Given the description of an element on the screen output the (x, y) to click on. 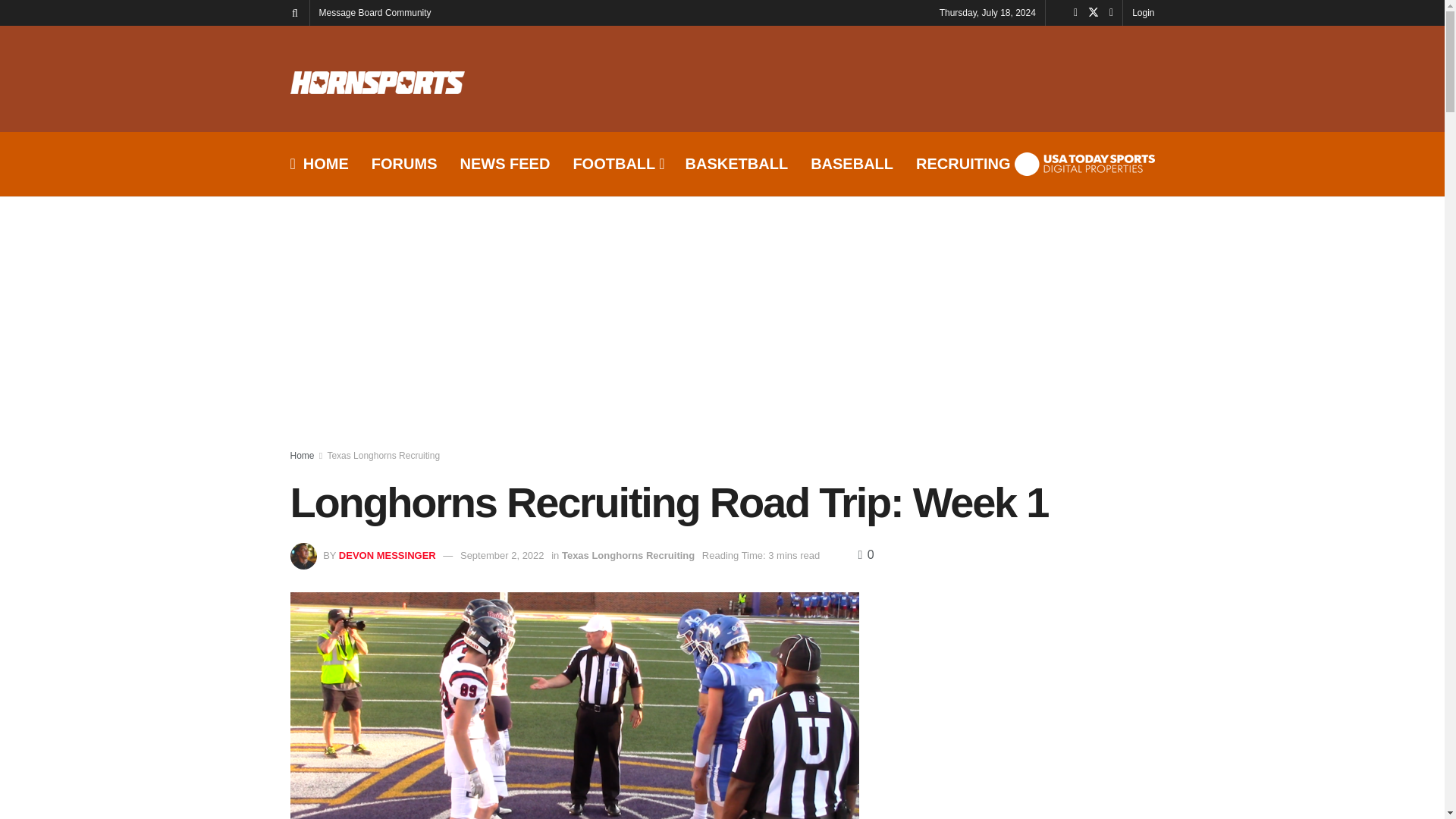
FOOTBALL (617, 163)
Texas Longhorns Recruiting (382, 455)
September 2, 2022 (502, 555)
Home (301, 455)
0 (865, 554)
FORUMS (404, 163)
NEWS FEED (505, 163)
RECRUITING (962, 163)
Login (1143, 12)
Advertisement (878, 79)
HOME (318, 163)
BASKETBALL (737, 163)
Message Board Community (374, 12)
DEVON MESSINGER (387, 555)
